Given the description of an element on the screen output the (x, y) to click on. 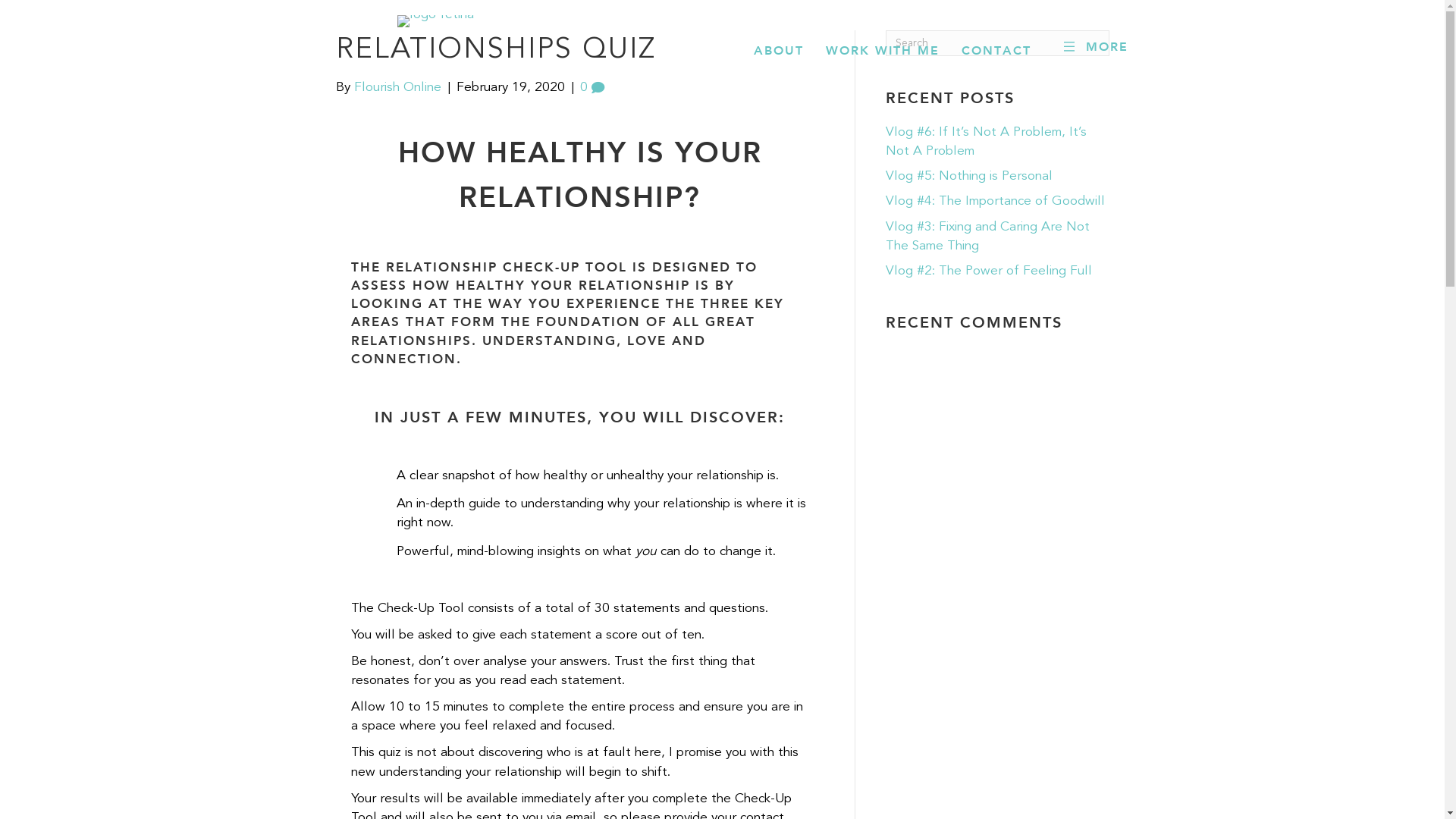
0 Element type: text (591, 87)
WORK WITH ME Element type: text (882, 49)
MORE Element type: text (1095, 45)
CONTACT Element type: text (995, 49)
Vlog #2: The Power of Feeling Full Element type: text (988, 270)
logo-retina Element type: hover (435, 21)
Type and press Enter to search. Element type: hover (997, 43)
Vlog #3: Fixing and Caring Are Not The Same Thing Element type: text (987, 235)
Flourish Online Element type: text (396, 87)
ABOUT Element type: text (778, 49)
Vlog #5: Nothing is Personal Element type: text (968, 175)
Vlog #4: The Importance of Goodwill Element type: text (994, 200)
